Given the description of an element on the screen output the (x, y) to click on. 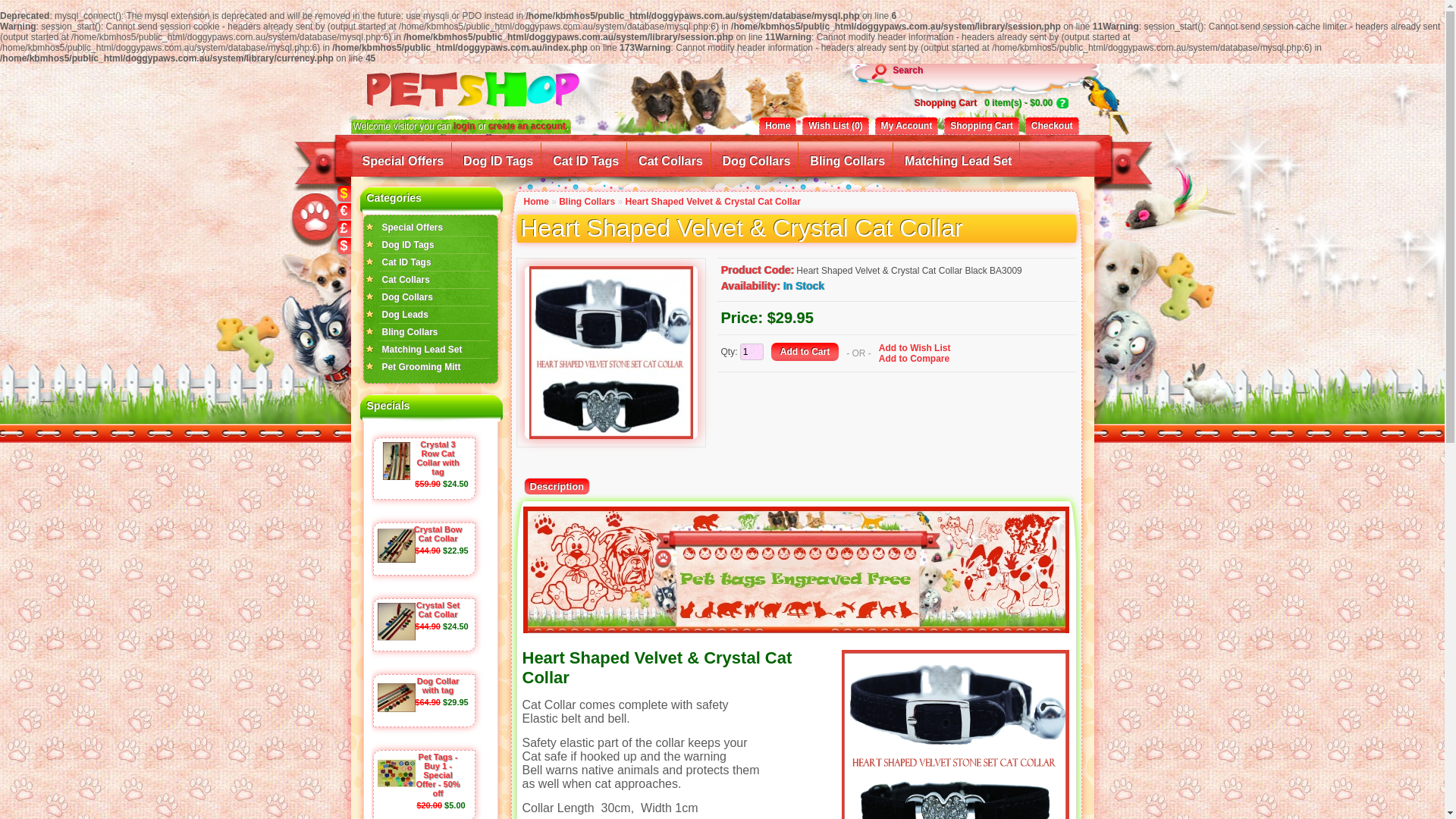
Bling Collars Element type: text (434, 331)
Add to Compare Element type: text (913, 358)
Home Element type: text (777, 125)
Special Offers Element type: text (403, 158)
Add to Wish List Element type: text (914, 347)
Pet Grooming Mitt Element type: text (421, 366)
Special Offers Element type: text (412, 227)
Wish List (0) Element type: text (835, 125)
Pet Tags - Buy 1 - Special Offer - 50% off Element type: text (438, 774)
Dog Collars Element type: text (757, 158)
Crystal Bow Cat Collar Element type: text (438, 533)
Shopping Cart Element type: text (981, 125)
Matching Lead Set Element type: text (958, 158)
Crystal 3 Row Cat Collar with tag Element type: text (438, 457)
Dog Collar with tag Element type: text (438, 685)
Matching Lead Set Element type: text (422, 349)
Crystal Set Cat Collar Element type: text (438, 609)
Cat Collars Element type: text (670, 158)
Dog ID Tags Element type: text (498, 158)
Heart Shaped Velvet & Crystal Cat Collar Element type: text (712, 201)
Heart Shaped Velvet & Crystal Cat Collar Element type: hover (610, 352)
Bling Collars Element type: text (847, 158)
0 item(s) - $0.00 Element type: text (1025, 102)
login Element type: text (465, 126)
Description Element type: text (556, 485)
Bling Collars Element type: text (586, 201)
$ Element type: text (343, 246)
Dog Collars Element type: text (407, 296)
Dog Leads Element type: text (405, 314)
Search Element type: text (966, 70)
Cat ID Tags Element type: text (586, 158)
Cat Collars Element type: text (405, 279)
Checkout Element type: text (1052, 125)
$ Element type: text (343, 193)
Doggy Paws Element type: hover (509, 93)
Dog ID Tags Element type: text (408, 244)
My Account Element type: text (906, 125)
create an account Element type: text (527, 126)
Home Element type: text (535, 201)
Cat ID Tags Element type: text (406, 262)
